Given the description of an element on the screen output the (x, y) to click on. 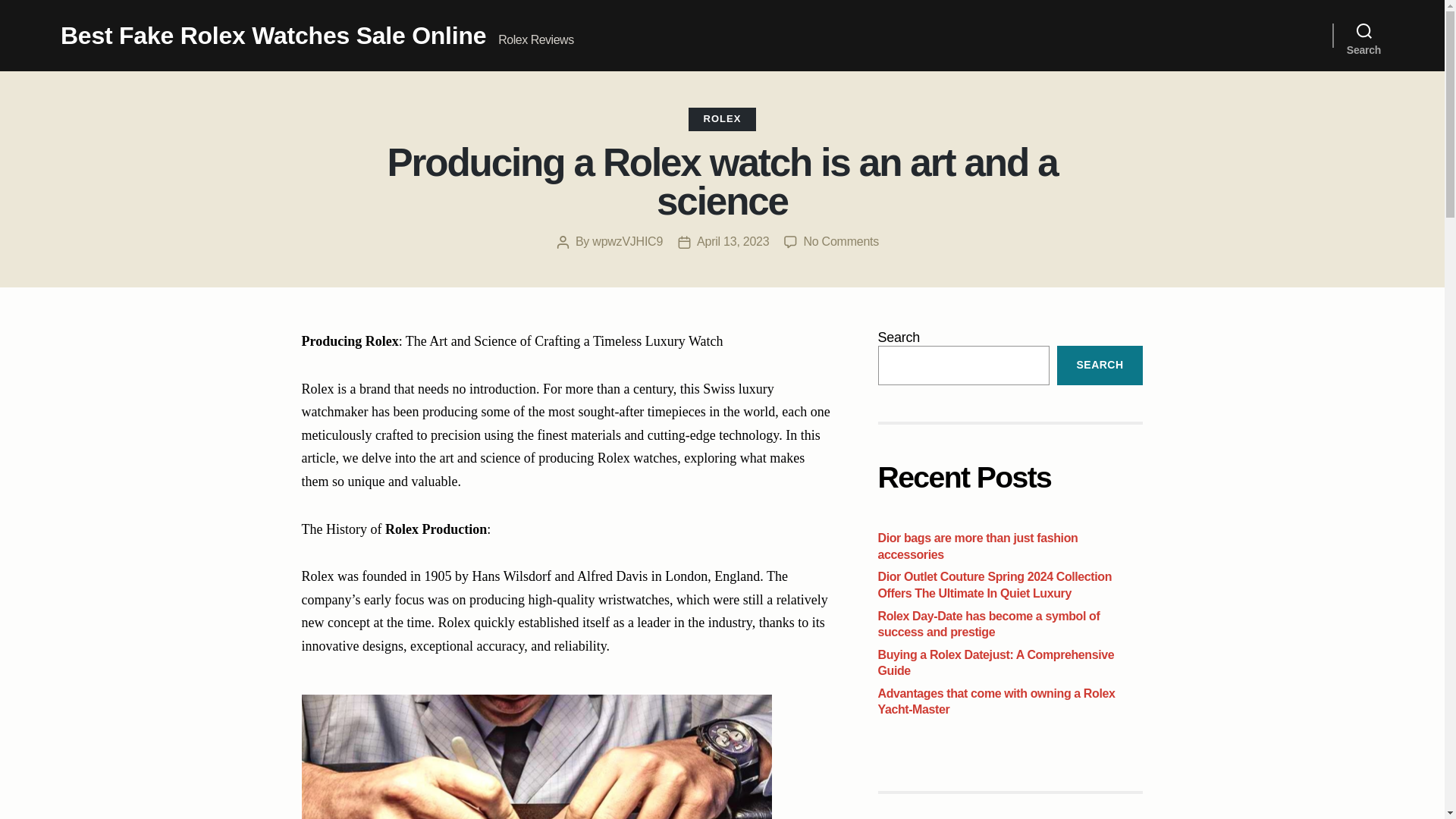
Rolex Day-Date has become a symbol of success and prestige (988, 624)
Best Fake Rolex Watches Sale Online (273, 35)
SEARCH (1099, 364)
ROLEX (722, 118)
Search (1364, 35)
April 13, 2023 (732, 241)
Buying a Rolex Datejust: A Comprehensive Guide (996, 663)
Advantages that come with owning a Rolex Yacht-Master (996, 701)
Dior bags are more than just fashion accessories (977, 546)
wpwzVJHIC9 (627, 241)
